Given the description of an element on the screen output the (x, y) to click on. 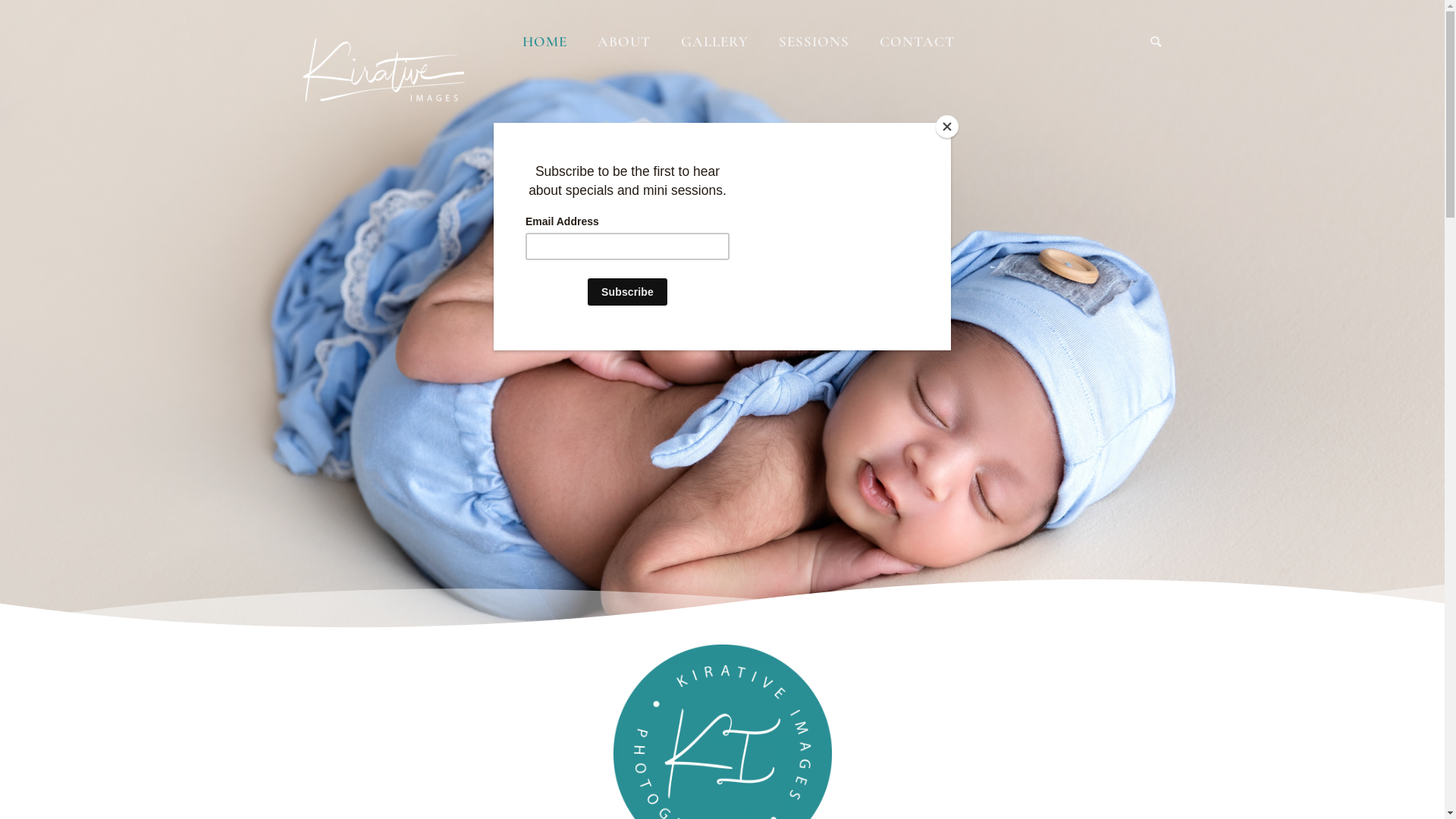
Sitter Gallery Element type: text (792, 534)
04399 11032 Element type: text (1024, 646)
ABOUT Element type: text (623, 41)
Simply Me-dia Element type: text (351, 794)
CONTACT Element type: text (916, 41)
Beginning Newborn Photography | Kirative Images Element type: text (606, 542)
GALLERY Element type: text (714, 41)
Contact Element type: text (780, 589)
Newborn Gallery Element type: text (802, 561)
SESSIONS Element type: text (812, 41)
Bonner Newborn Session | Kirative Images Element type: text (606, 586)
kira@kirativeimages.com.au Element type: text (1038, 628)
Bonner Newborn Session | Kirative Images Element type: text (606, 630)
HOME Element type: text (543, 41)
